Given the description of an element on the screen output the (x, y) to click on. 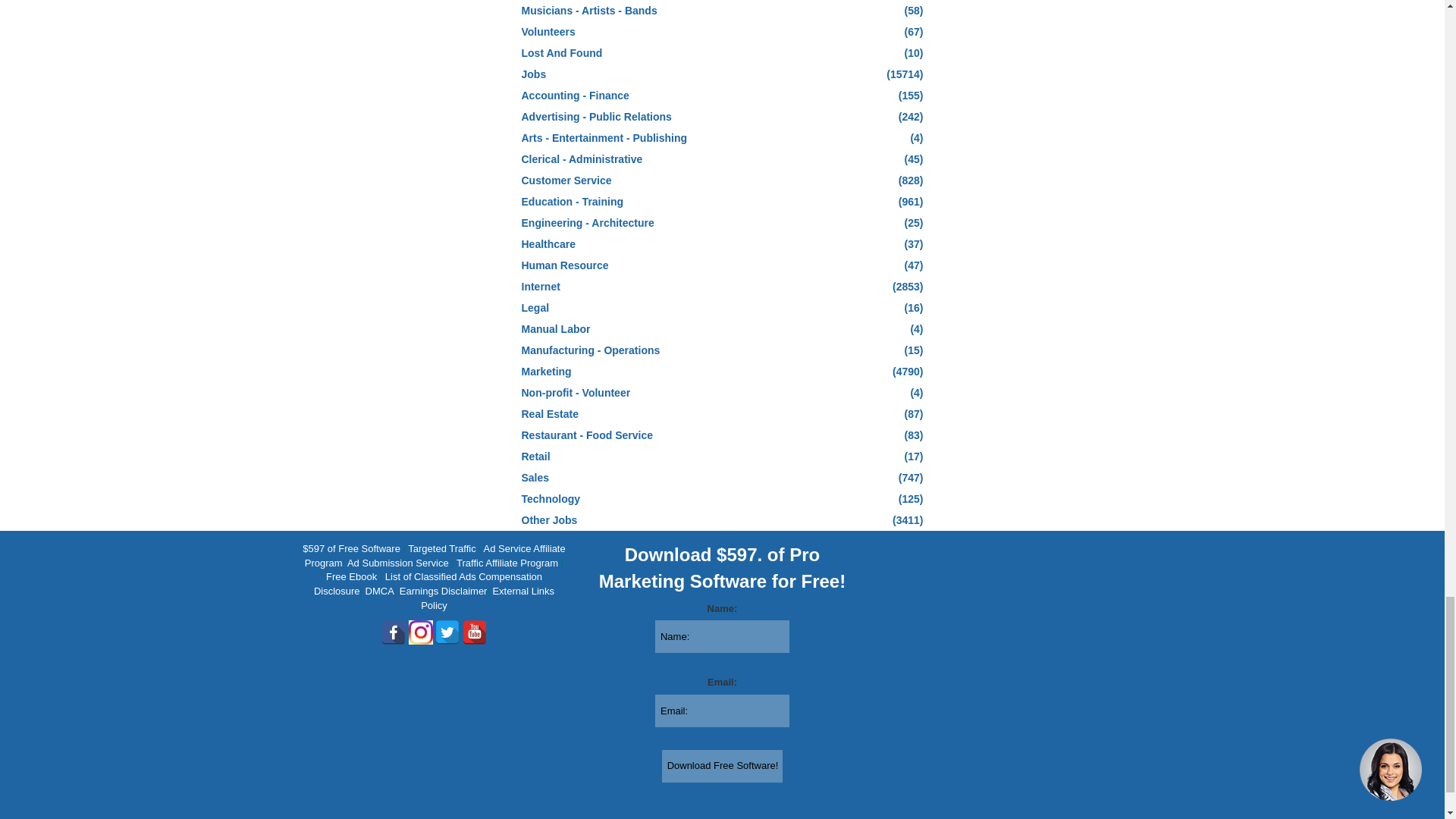
Download Free Software! (722, 765)
Email: (721, 710)
Name: (721, 636)
